Given the description of an element on the screen output the (x, y) to click on. 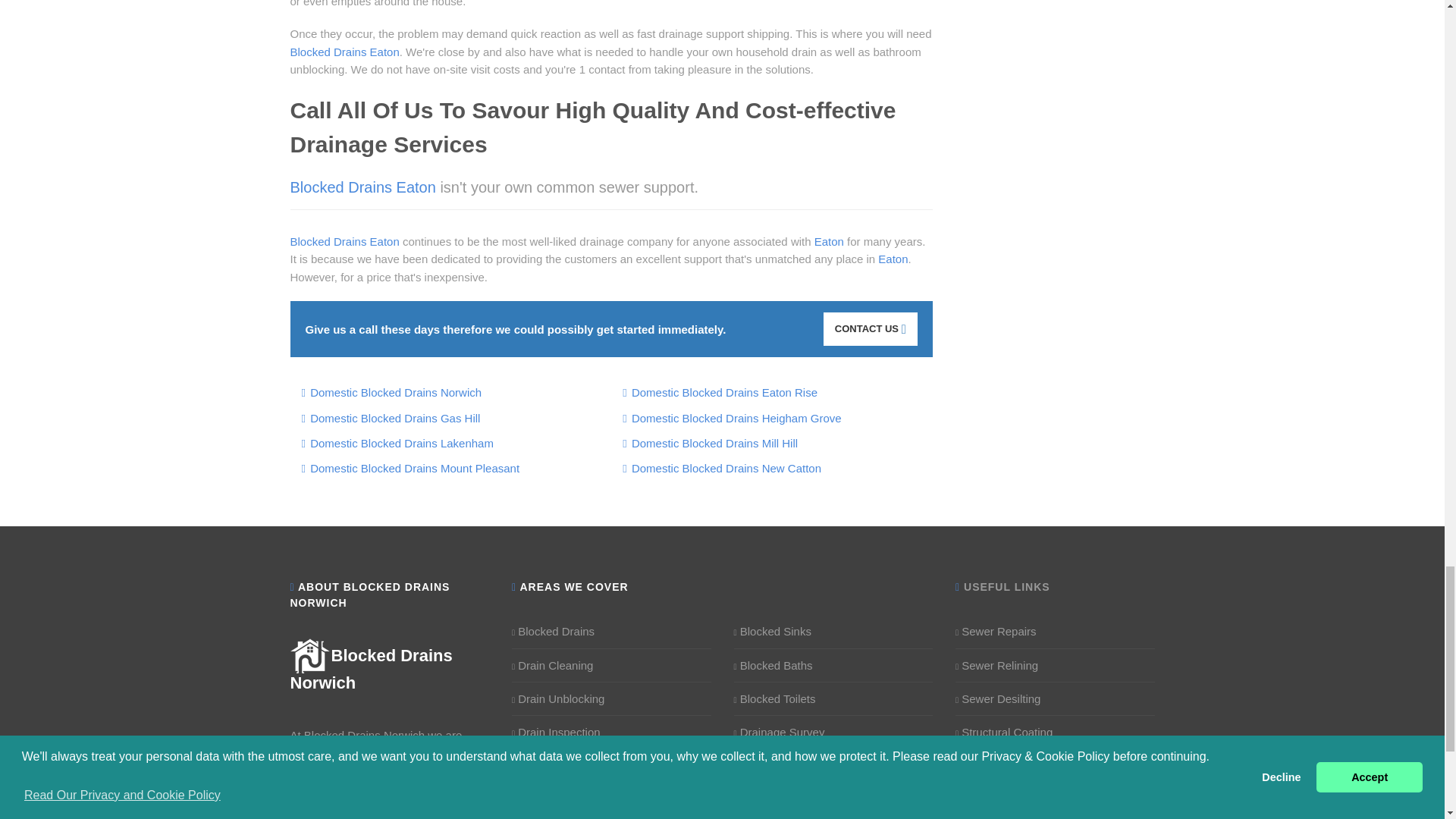
blockeddrains-norwich.uk (370, 669)
